Given the description of an element on the screen output the (x, y) to click on. 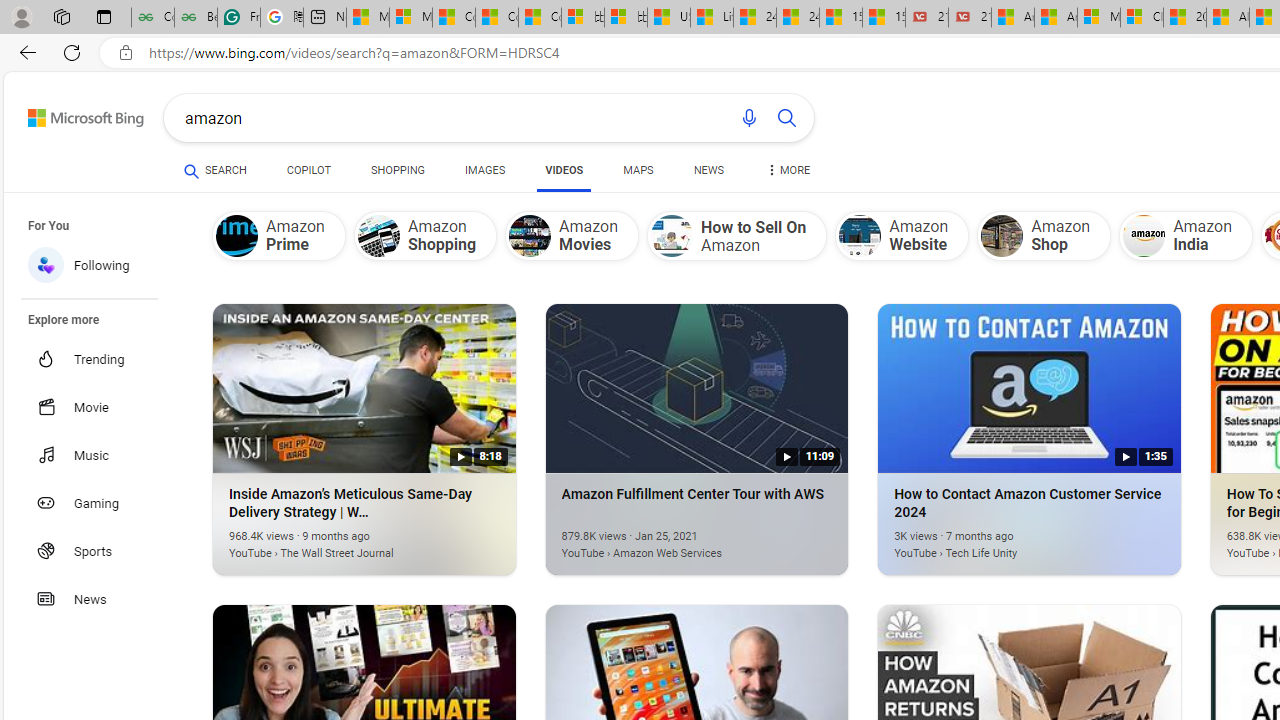
Amazon Movies (571, 235)
Cloud Computing Services | Microsoft Azure (1142, 17)
Amazon Fulfillment Center Tour with AWS (667, 542)
SHOPPING (397, 173)
USA TODAY - MSN (668, 17)
Amazon Website (859, 236)
Class: item col (1186, 235)
How to Sell On Amazon (736, 235)
Amazon India (1144, 236)
